Given the description of an element on the screen output the (x, y) to click on. 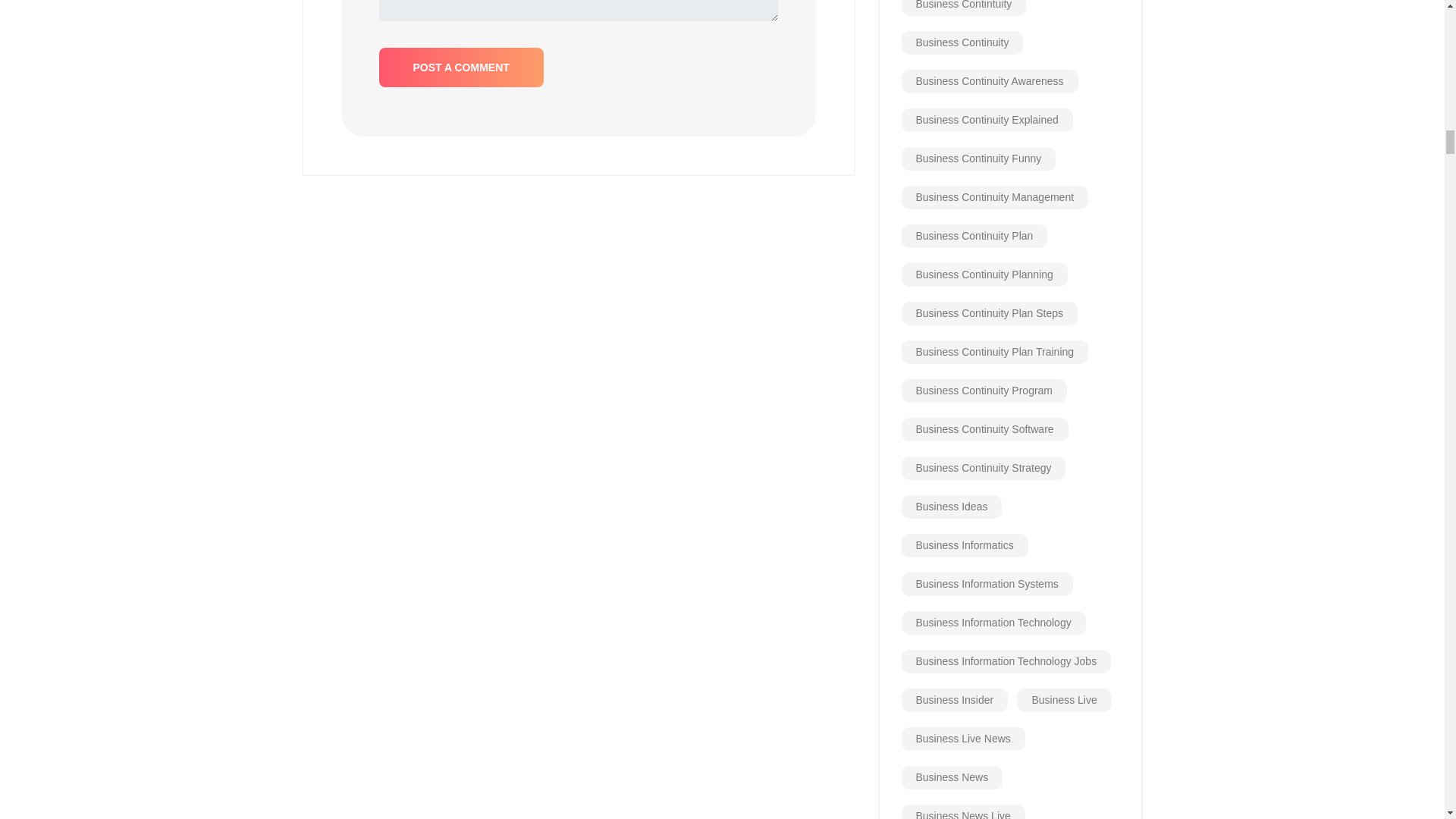
Post a Comment (460, 66)
